Given the description of an element on the screen output the (x, y) to click on. 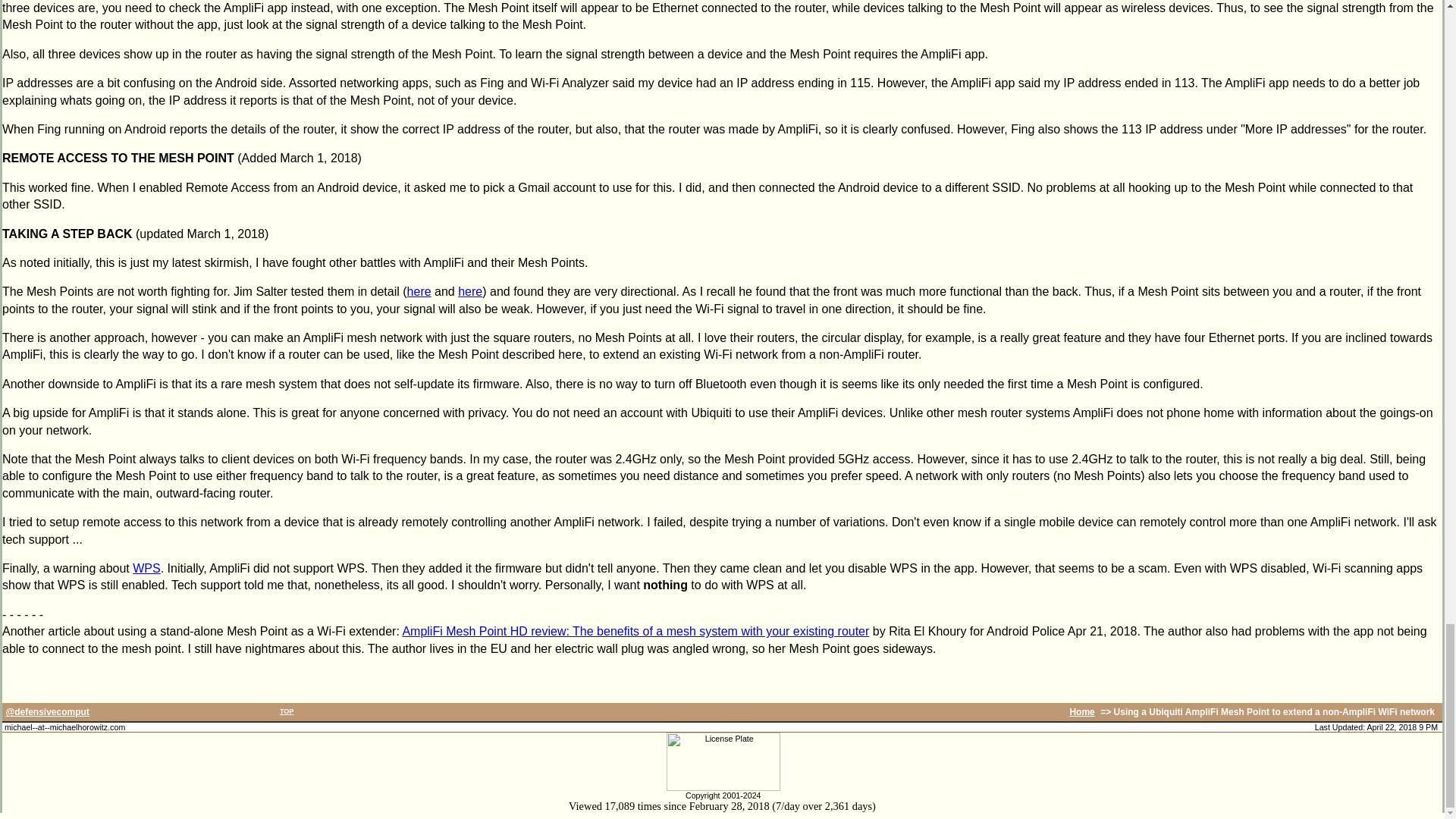
Follow me on Twitter (46, 711)
Home (1081, 711)
TOP (286, 710)
WPS (146, 567)
here (469, 291)
here (418, 291)
